Given the description of an element on the screen output the (x, y) to click on. 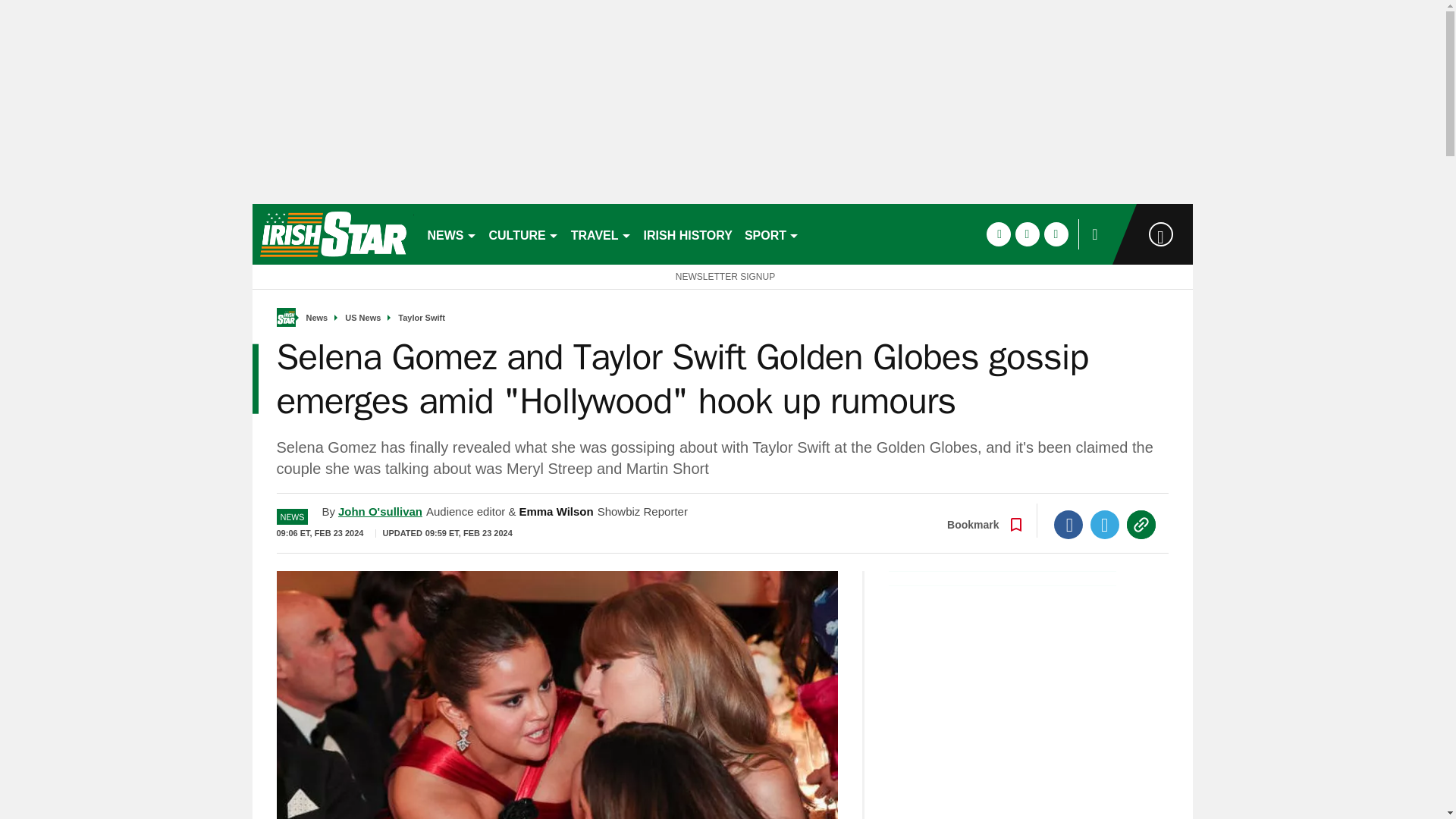
twitter (1026, 233)
NEWS (452, 233)
NEWSLETTER SIGNUP (721, 275)
Facebook (1068, 524)
CULTURE (522, 233)
Taylor Swift (421, 317)
Twitter (1104, 524)
irishstar (332, 233)
IRISH HISTORY (687, 233)
frontpage (285, 316)
